Given the description of an element on the screen output the (x, y) to click on. 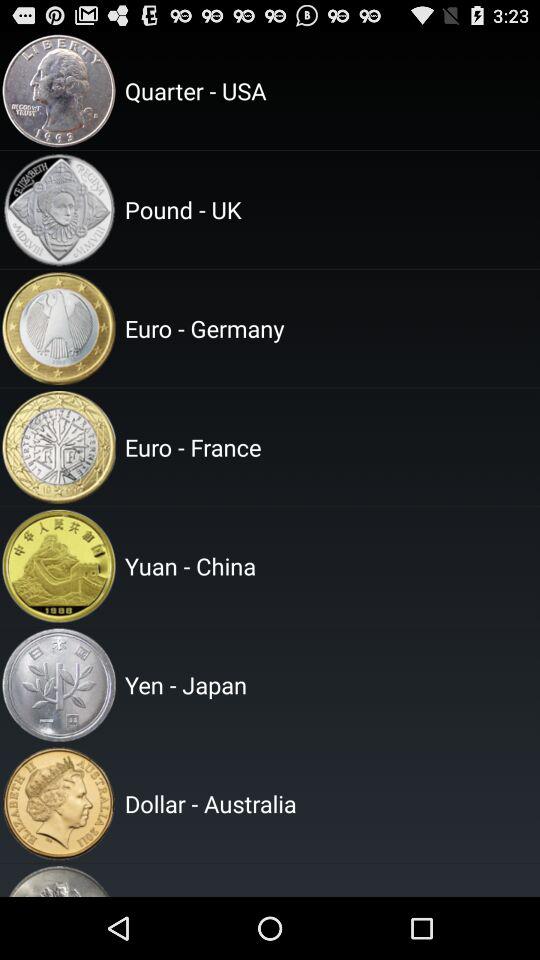
jump to quarter - usa item (329, 90)
